Given the description of an element on the screen output the (x, y) to click on. 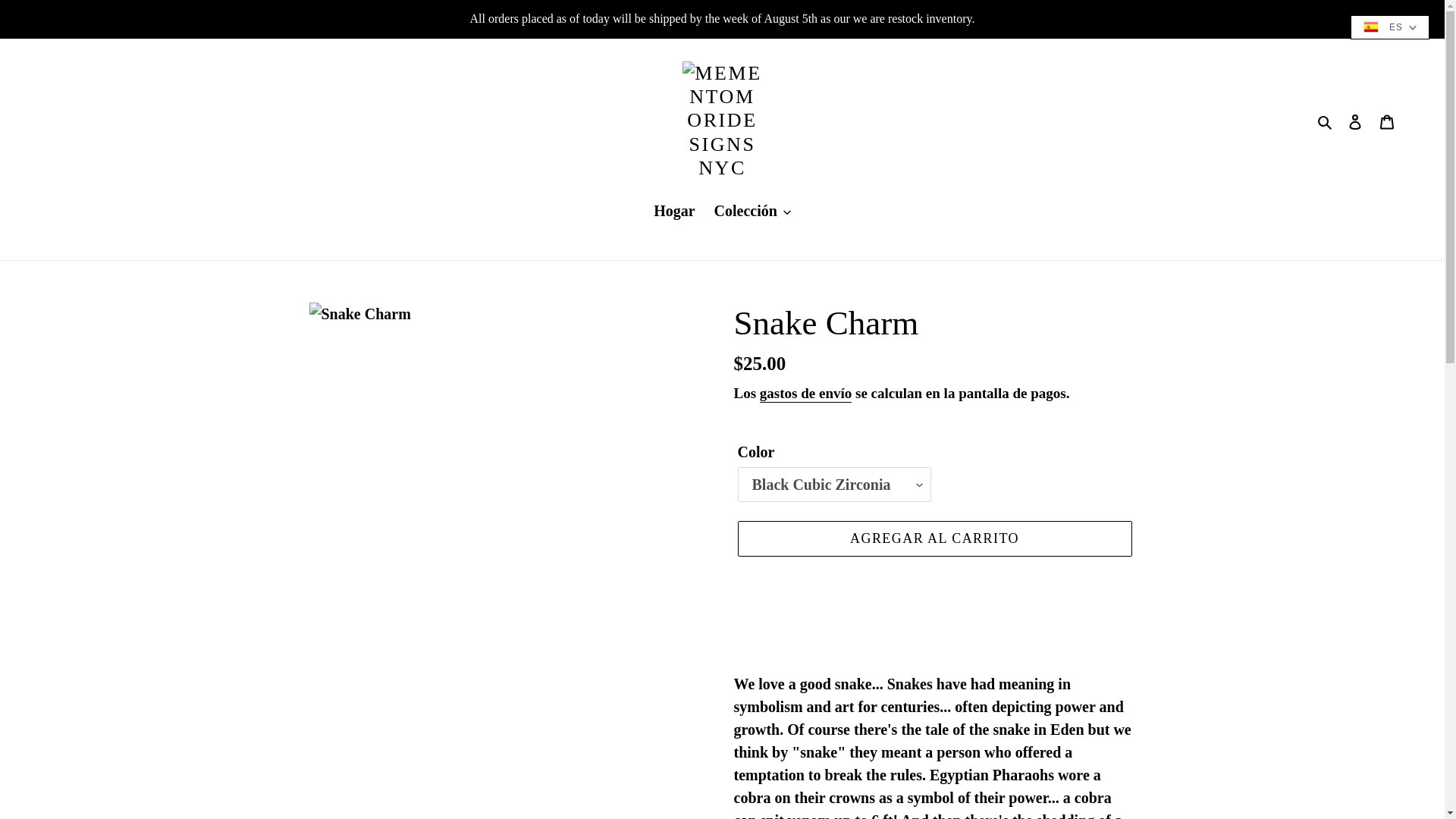
Hogar (673, 211)
Buscar (1326, 120)
AGREGAR AL CARRITO (933, 538)
